Given the description of an element on the screen output the (x, y) to click on. 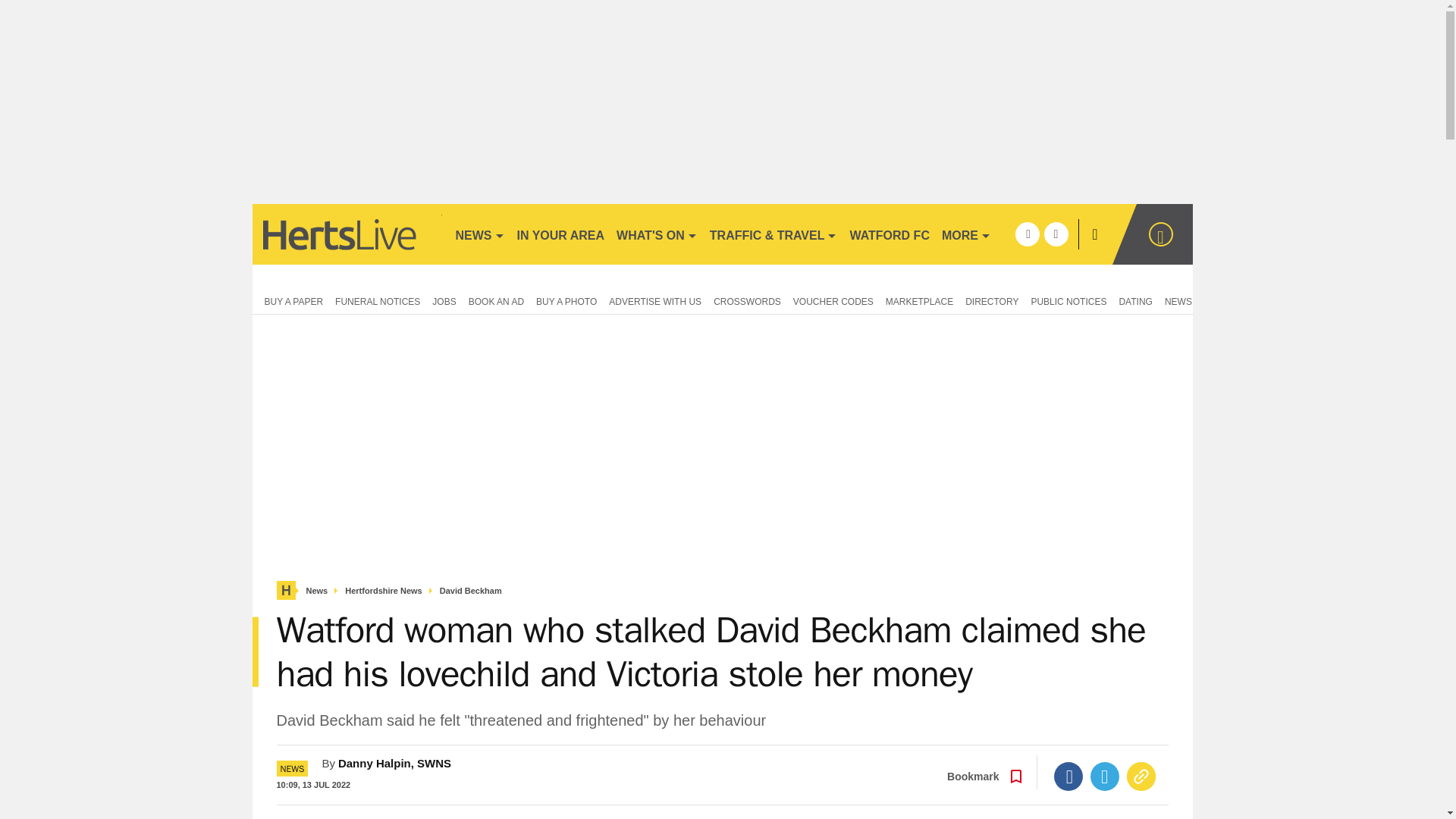
Twitter (1104, 776)
IN YOUR AREA (561, 233)
MORE (966, 233)
twitter (1055, 233)
facebook (1026, 233)
WATFORD FC (888, 233)
hertfordshiremercury (346, 233)
WHAT'S ON (656, 233)
NEWS (479, 233)
Facebook (1068, 776)
